Given the description of an element on the screen output the (x, y) to click on. 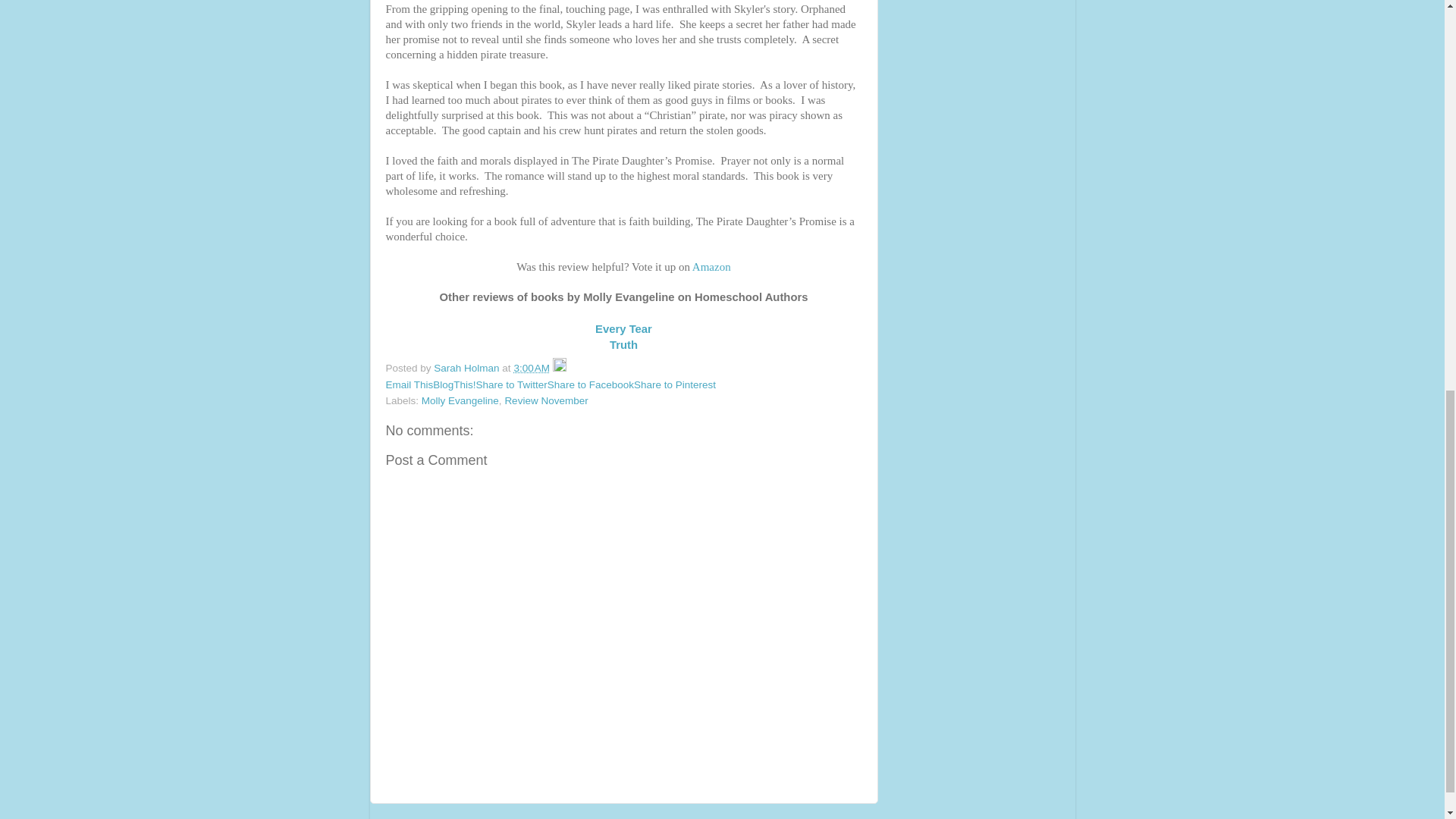
Share to Facebook (590, 384)
Share to Pinterest (674, 384)
Share to Facebook (590, 384)
Email This (408, 384)
Review November (545, 400)
Molly Evangeline (460, 400)
permanent link (531, 367)
Every Tear (623, 328)
BlogThis! (454, 384)
